Given the description of an element on the screen output the (x, y) to click on. 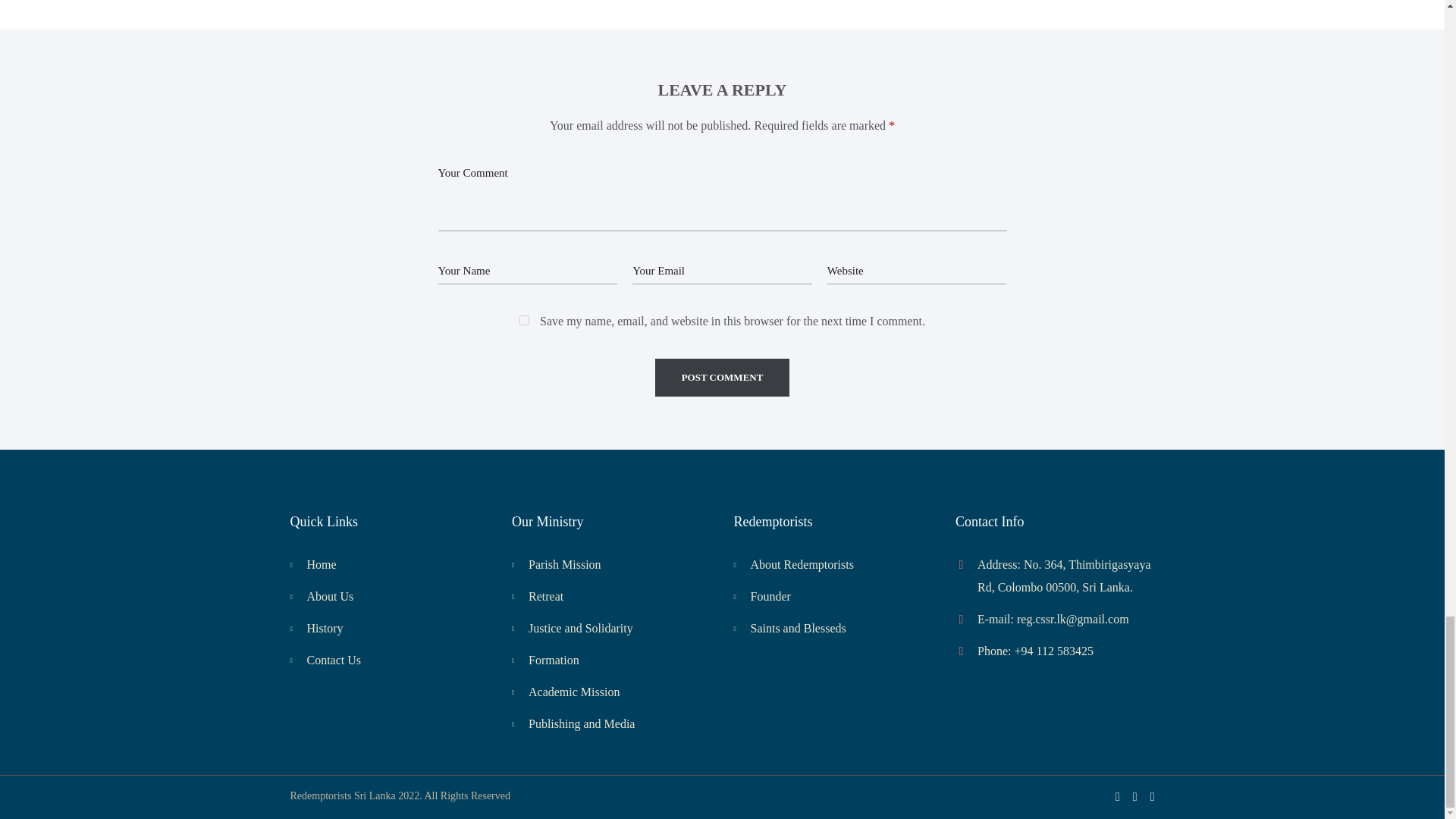
yes (524, 320)
